Given the description of an element on the screen output the (x, y) to click on. 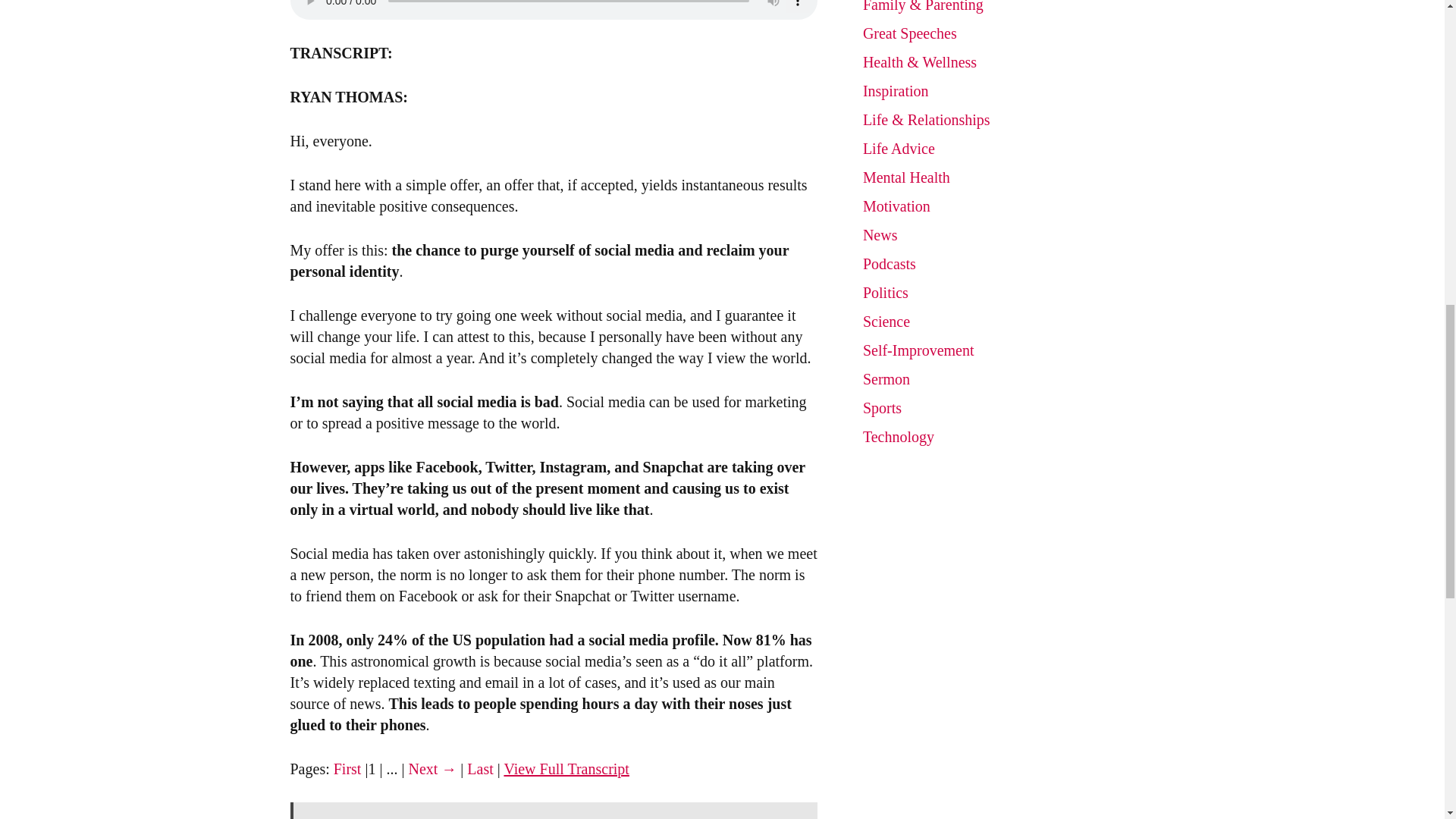
View Full Transcript (565, 768)
Last (480, 768)
First (347, 768)
